Given the description of an element on the screen output the (x, y) to click on. 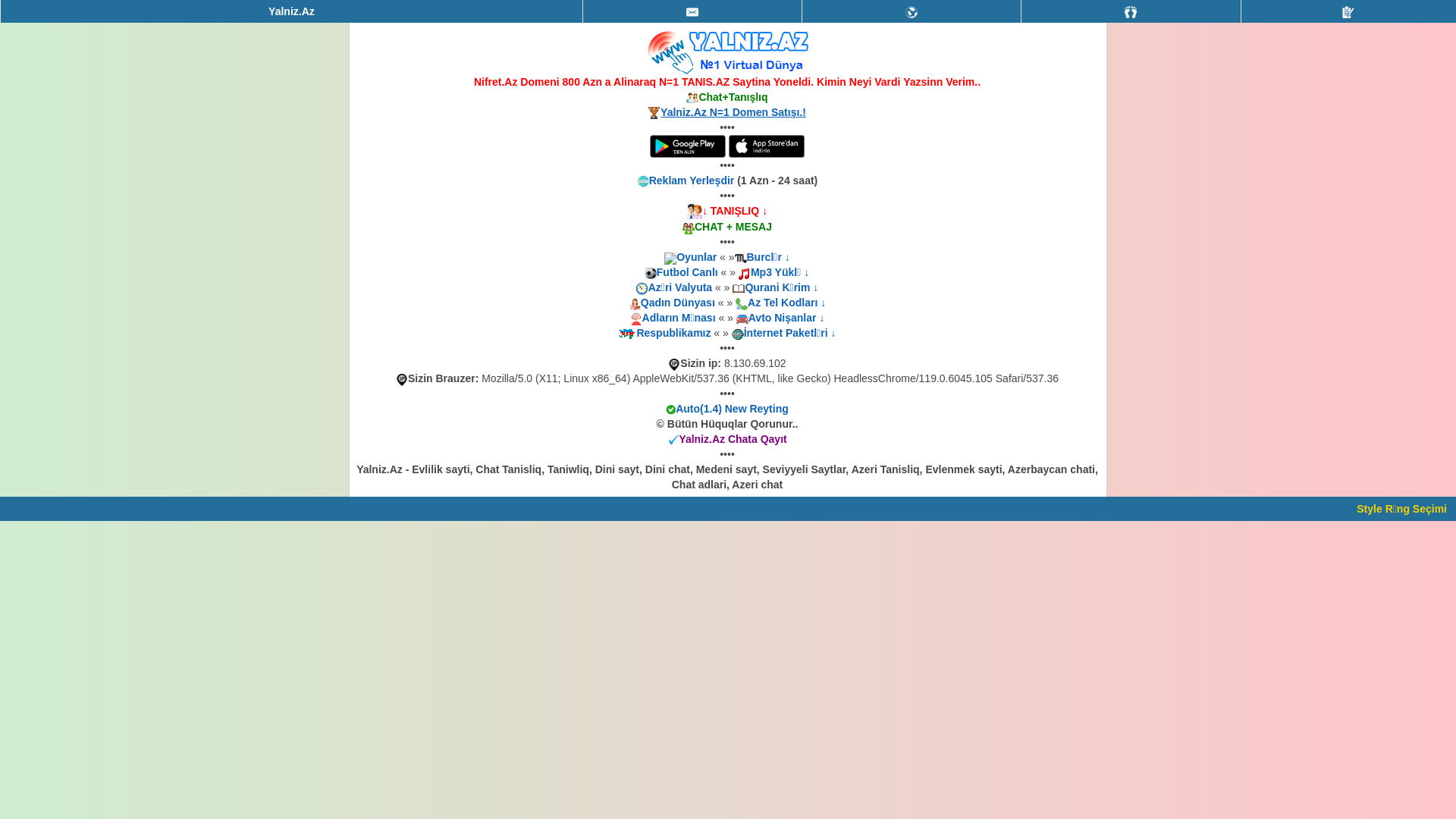
Yalniz.Az Element type: text (291, 11)
Qonaqlar Element type: hover (1130, 11)
Qonaqlar Element type: hover (1130, 12)
CHAT + MESAJ Element type: text (732, 226)
Mesajlar Element type: hover (692, 11)
Oyunlar Element type: text (696, 257)
Auto(1.4) New Reyting Element type: text (731, 408)
Mesajlar Element type: hover (692, 12)
Mektublar Element type: hover (911, 12)
Mektublar Element type: hover (911, 11)
